Given the description of an element on the screen output the (x, y) to click on. 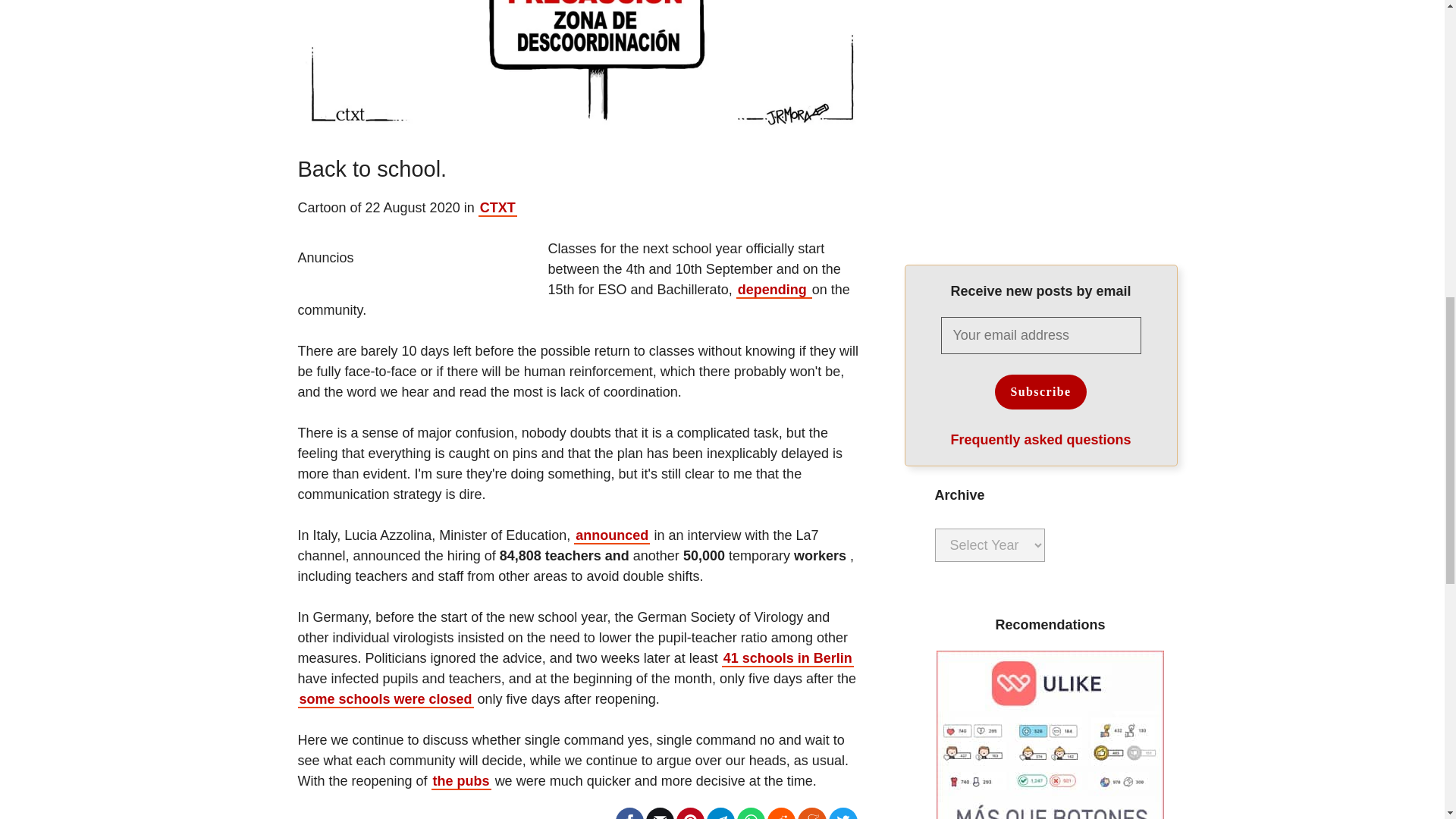
Telegram (720, 816)
Reddit (780, 816)
Back to school (578, 64)
